Given the description of an element on the screen output the (x, y) to click on. 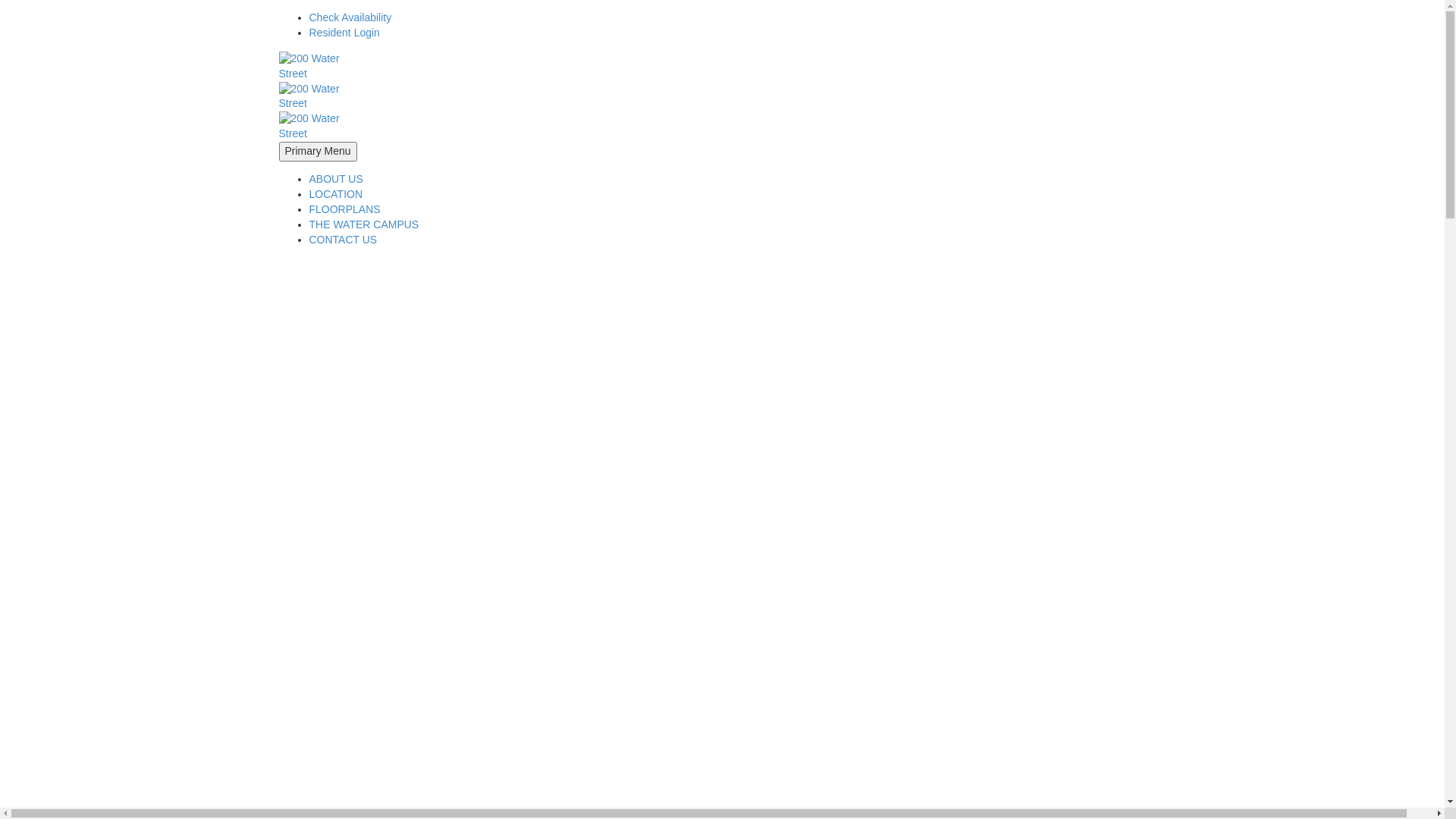
Check Availability Element type: text (350, 17)
FLOORPLANS Element type: text (344, 209)
THE WATER CAMPUS Element type: text (364, 224)
Primary Menu Element type: text (318, 151)
CONTACT US Element type: text (343, 239)
Resident Login Element type: text (344, 32)
ABOUT US Element type: text (336, 178)
LOCATION Element type: text (336, 194)
